Given the description of an element on the screen output the (x, y) to click on. 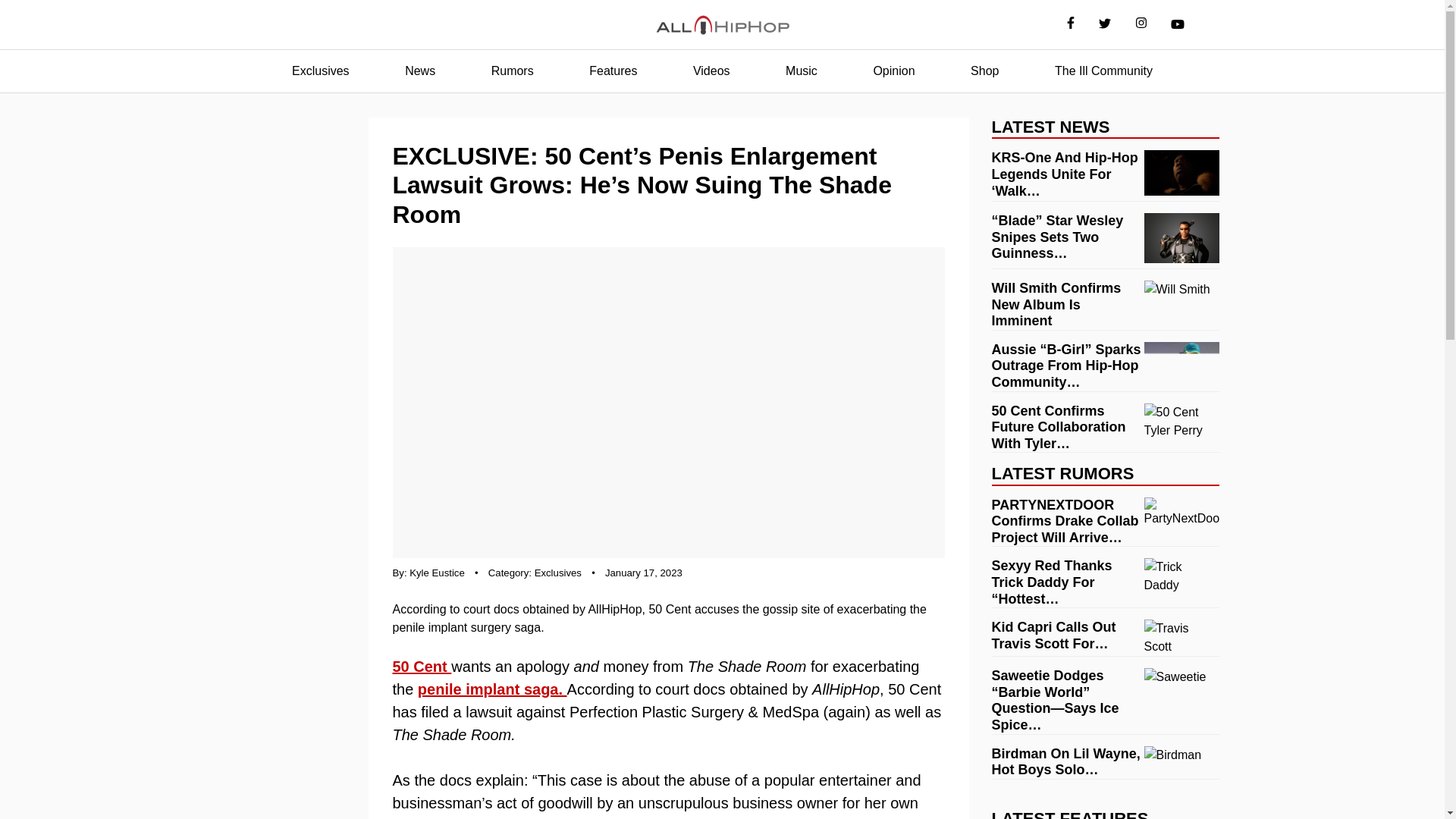
News (419, 70)
Features (612, 70)
Shop (984, 70)
The Ill Community (1103, 70)
Rumors (512, 70)
AllHipHop (722, 25)
January 17, 2023 (643, 572)
Opinion (893, 70)
Kyle Eustice (436, 572)
Exclusives (557, 572)
